Given the description of an element on the screen output the (x, y) to click on. 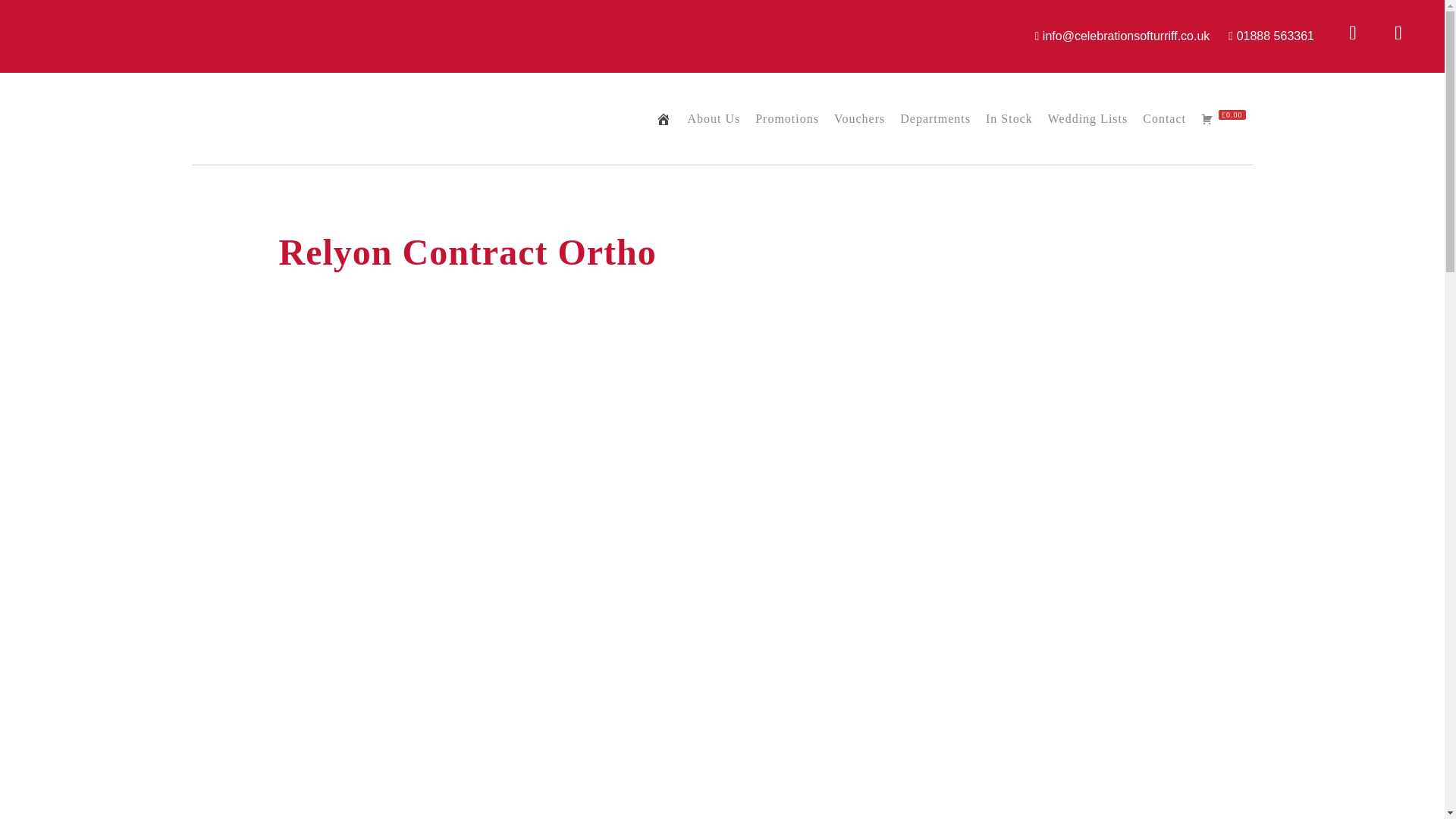
Follow on Instagram (1398, 33)
Departments (935, 118)
Follow on Facebook (1353, 33)
01888 563361 (1275, 35)
Wedding Lists (1088, 118)
